Given the description of an element on the screen output the (x, y) to click on. 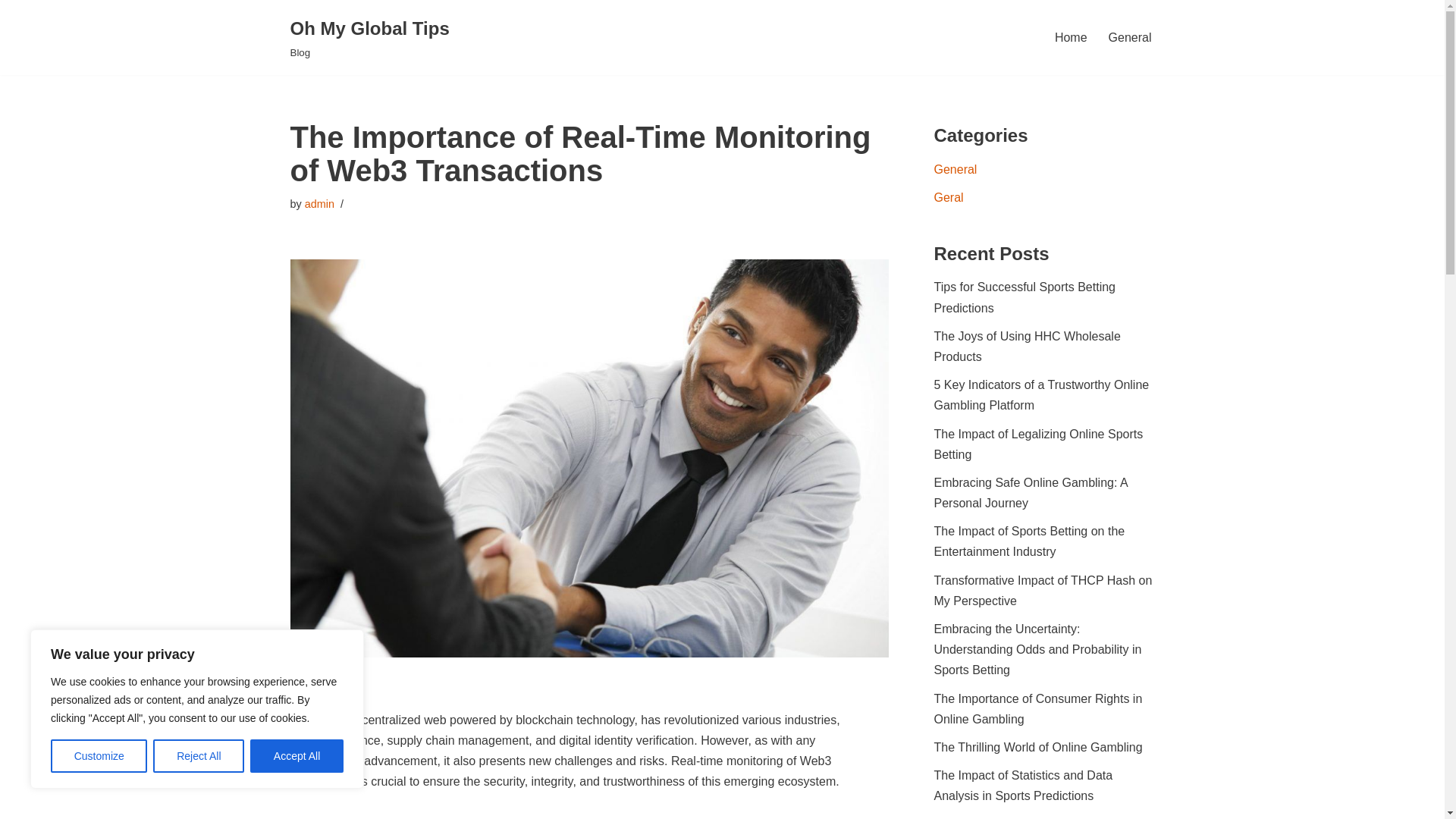
General (955, 169)
Skip to content (11, 31)
Embracing Safe Online Gambling: A Personal Journey (1030, 492)
Posts by admin (319, 203)
Geral (948, 196)
Customize (98, 756)
Accept All (296, 756)
Tips for Successful Sports Betting Predictions (1025, 296)
admin (319, 203)
General (1129, 37)
Home (1070, 37)
The Joys of Using HHC Wholesale Products (1027, 346)
Reject All (368, 37)
